Given the description of an element on the screen output the (x, y) to click on. 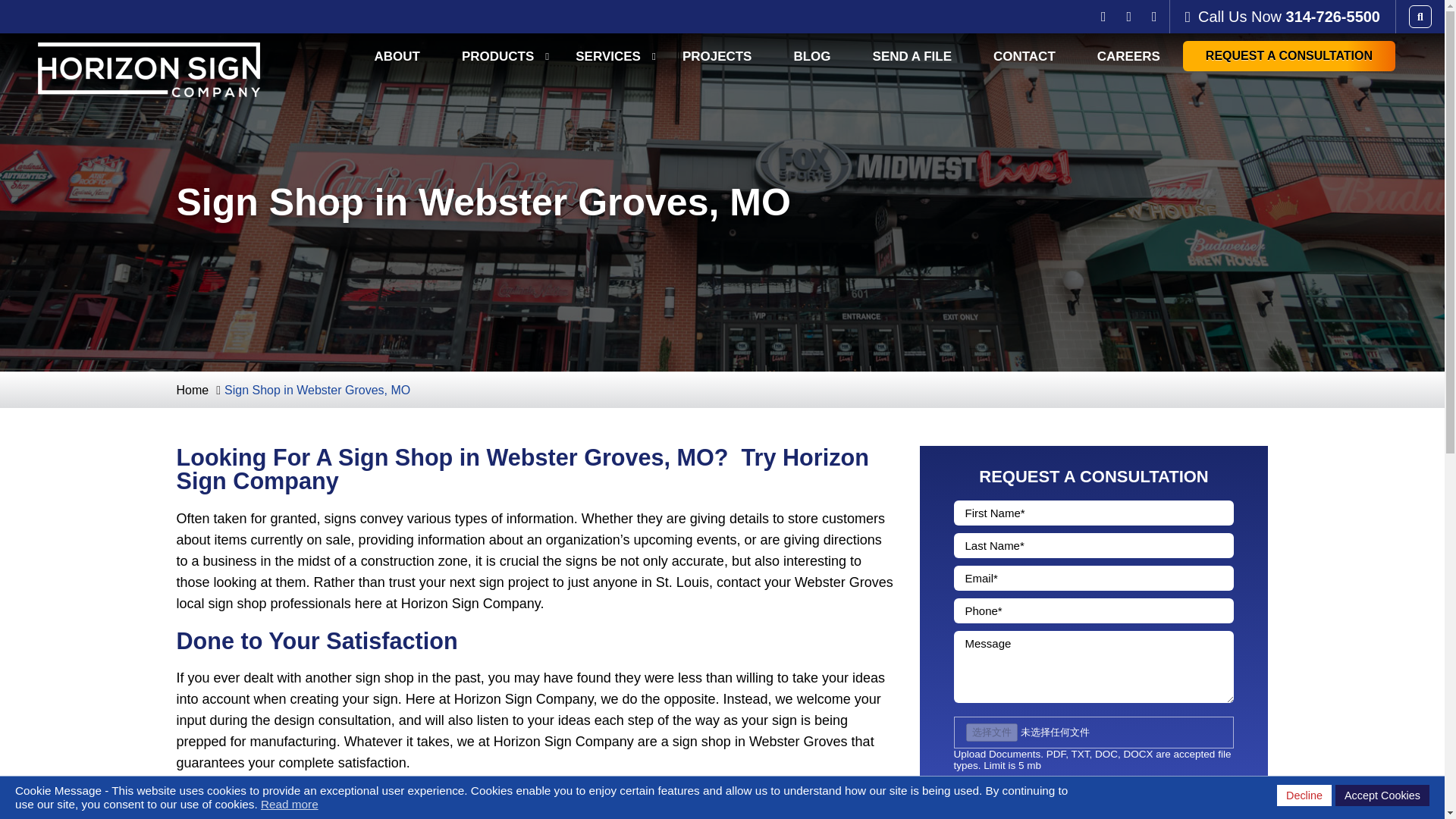
Horizon Sign Company (148, 52)
Accept Cookies (1382, 794)
PRODUCTS (497, 55)
314-726-5500 (1332, 16)
Decline (1304, 794)
Submit (1093, 794)
ABOUT (397, 55)
Read more (289, 803)
